Given the description of an element on the screen output the (x, y) to click on. 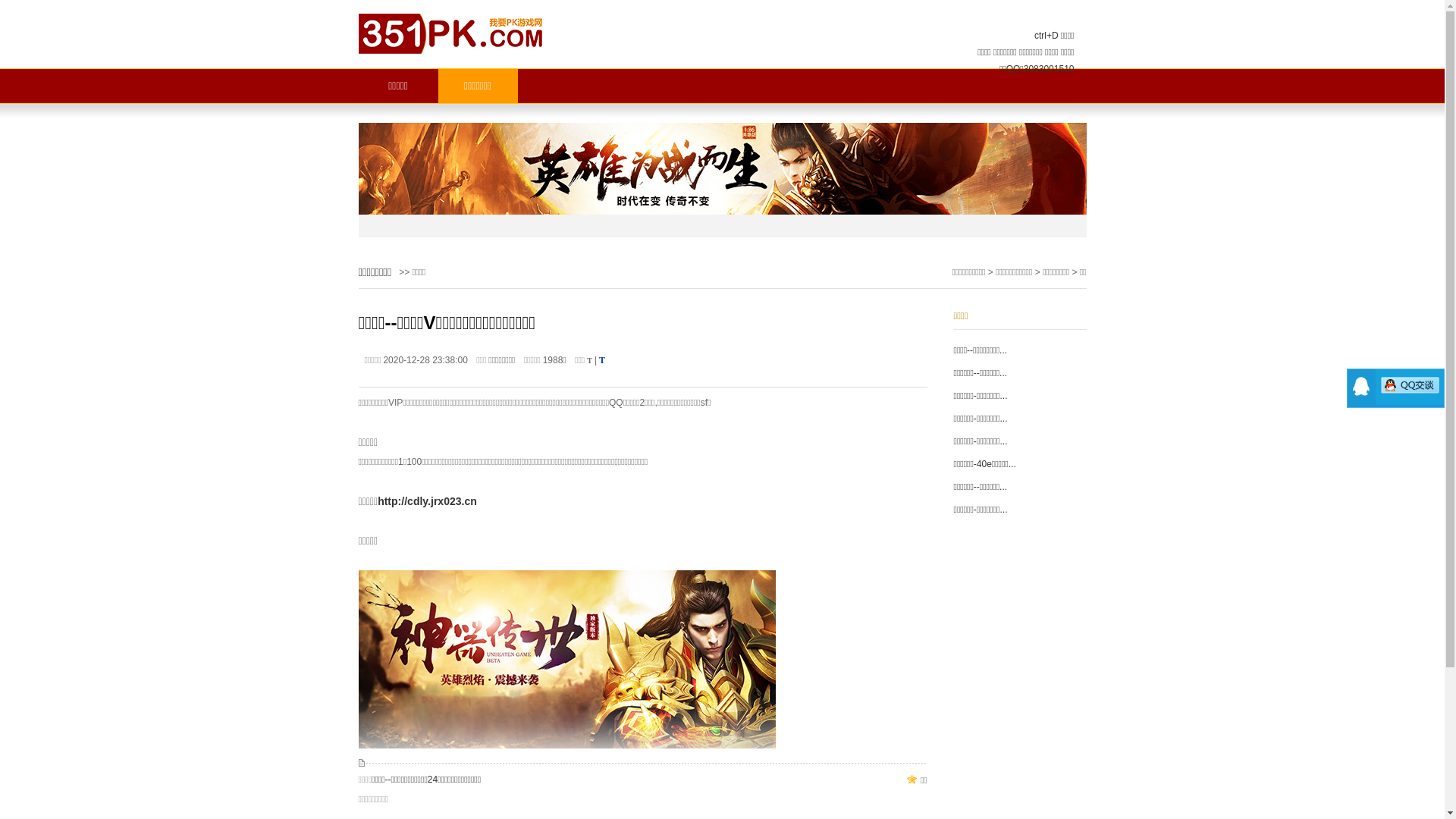
http://cdly.jrx023.cn Element type: text (426, 501)
